Given the description of an element on the screen output the (x, y) to click on. 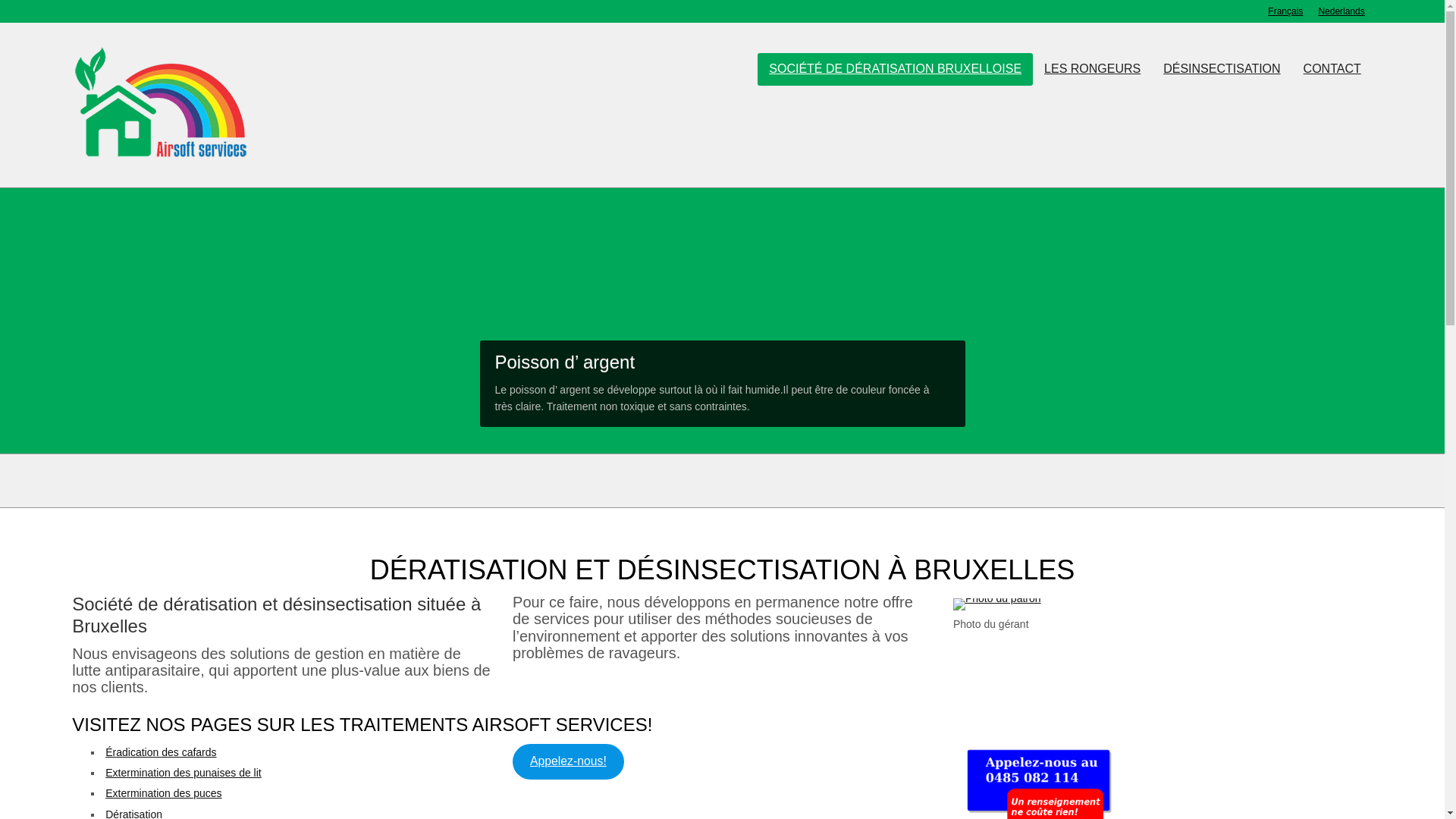
Extermination des puces Element type: text (163, 793)
CONTACT Element type: text (1332, 68)
Extermination des punaises de lit Element type: text (182, 772)
Nederlands Element type: text (1340, 11)
Appelez-nous! Element type: text (568, 761)
LES RONGEURS Element type: text (1091, 68)
